Given the description of an element on the screen output the (x, y) to click on. 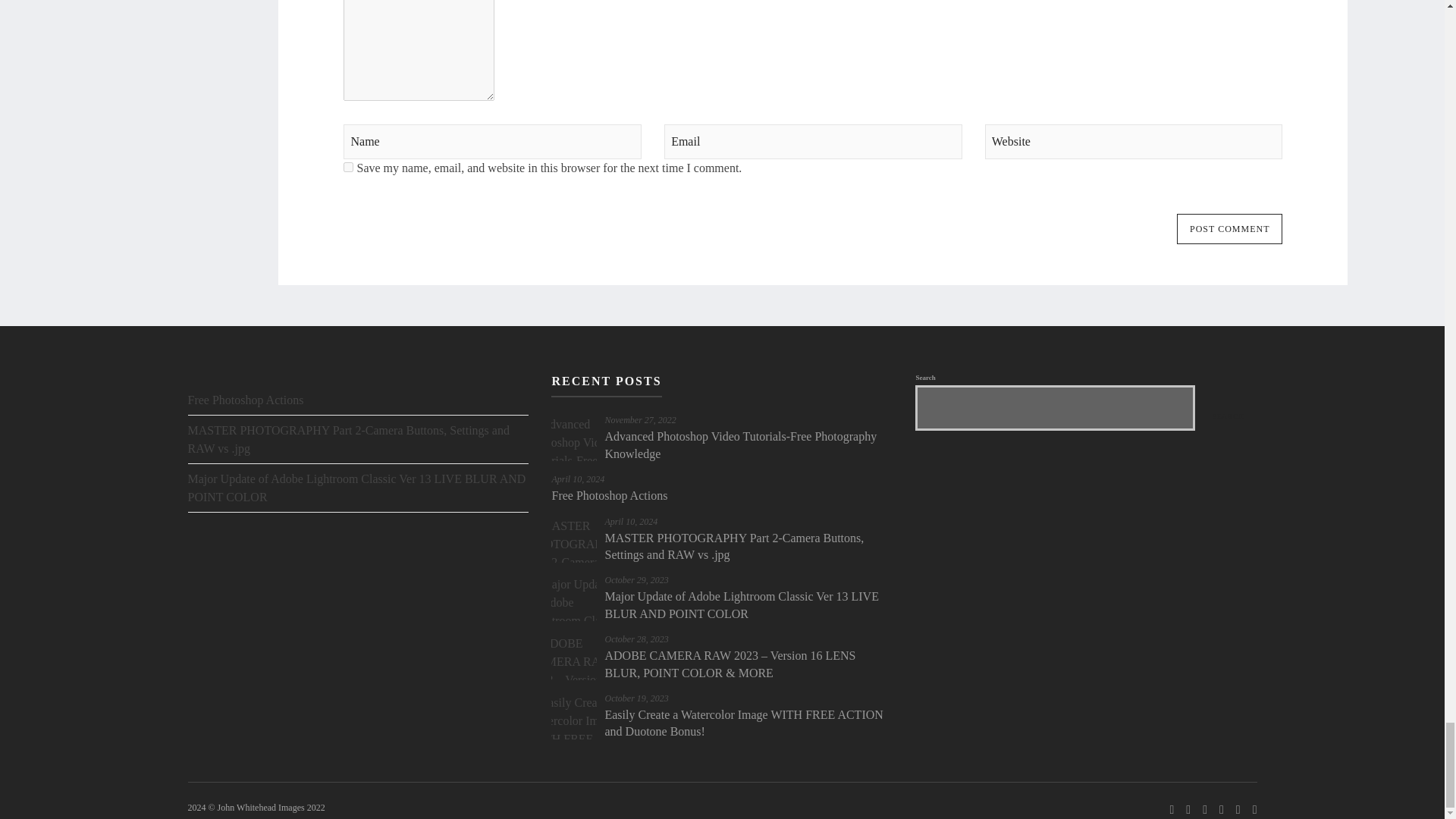
Post Comment (1229, 228)
yes (348, 166)
